Given the description of an element on the screen output the (x, y) to click on. 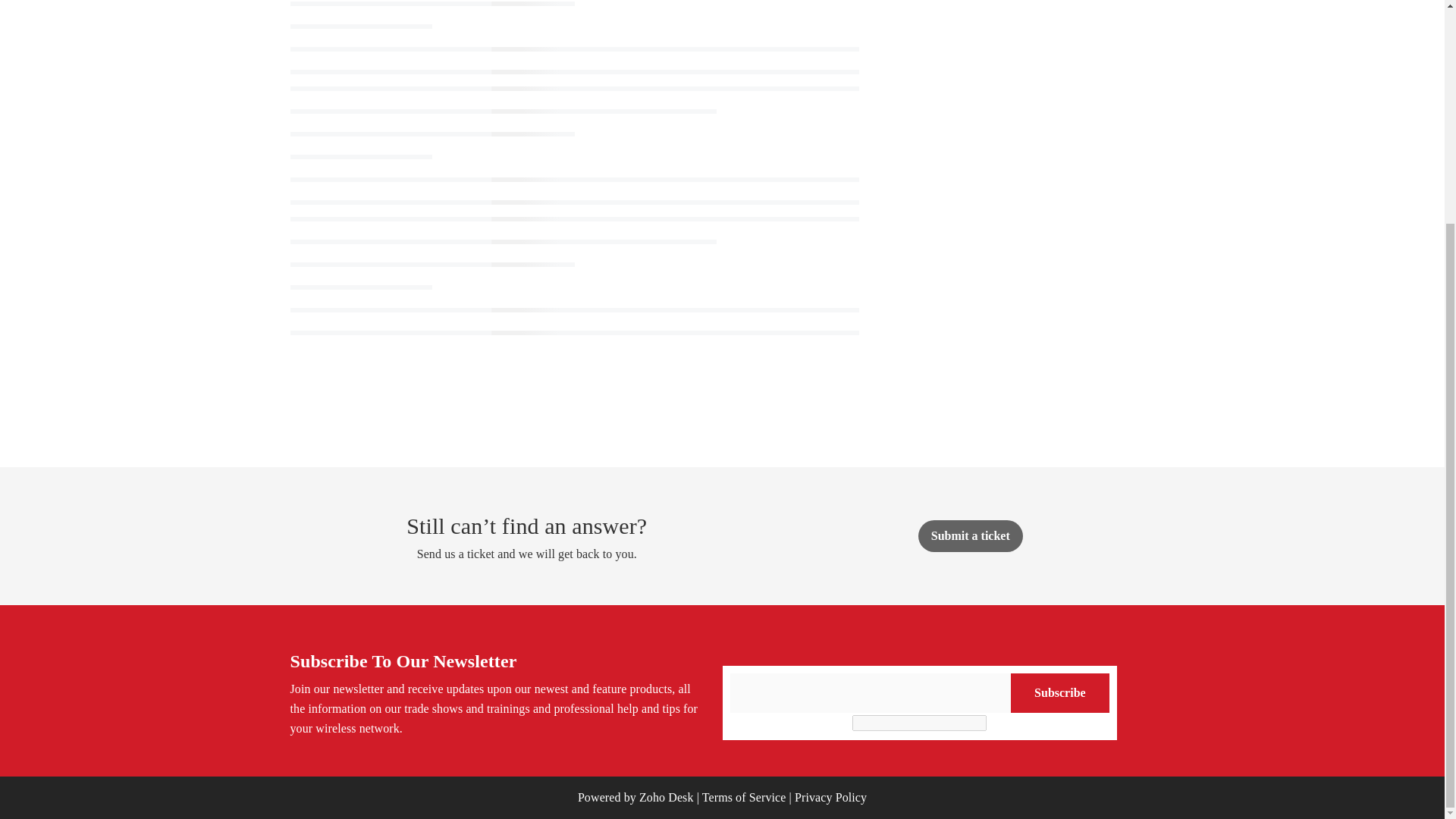
Subscribe (1059, 692)
Submit a ticket (970, 535)
Privacy Policy (830, 797)
Zoho Desk (666, 797)
Terms of Service (743, 797)
Submit a ticket (970, 536)
Subscribe (1059, 692)
